Given the description of an element on the screen output the (x, y) to click on. 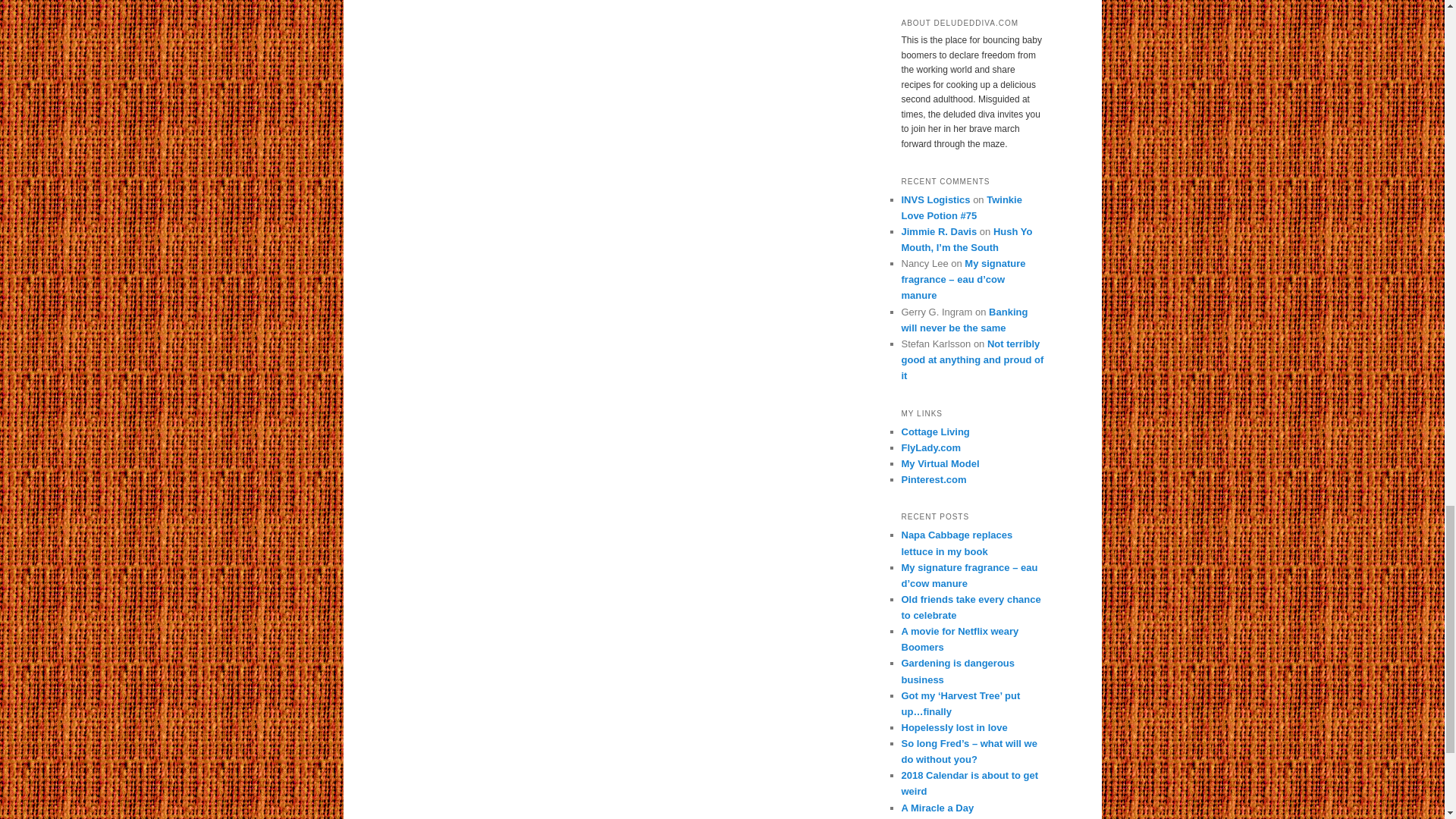
Cooking and housekeeping (930, 447)
